Given the description of an element on the screen output the (x, y) to click on. 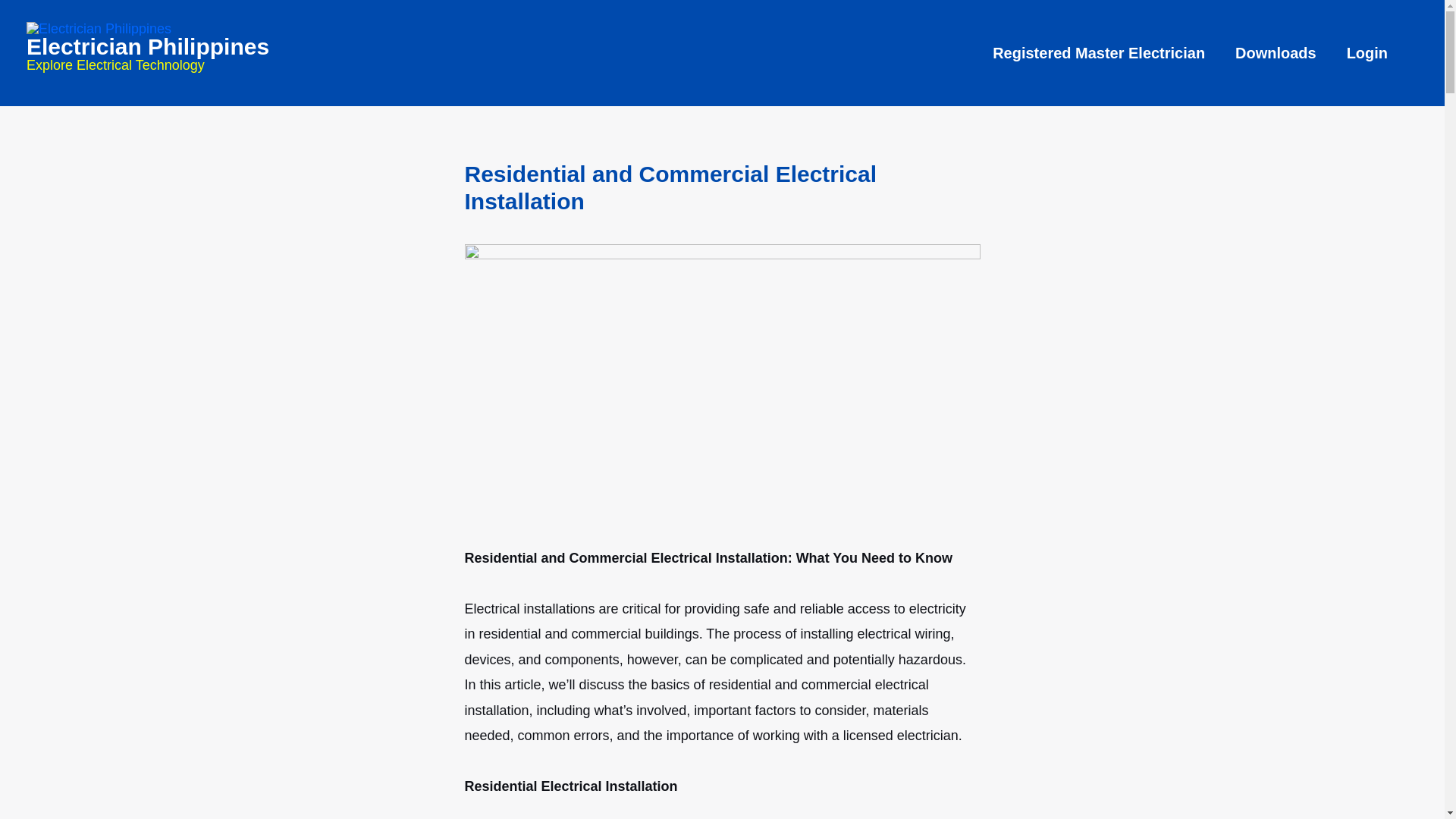
Electrician Philippines (147, 46)
Login (1367, 52)
Registered Master Electrician (1098, 52)
Downloads (1276, 52)
